Given the description of an element on the screen output the (x, y) to click on. 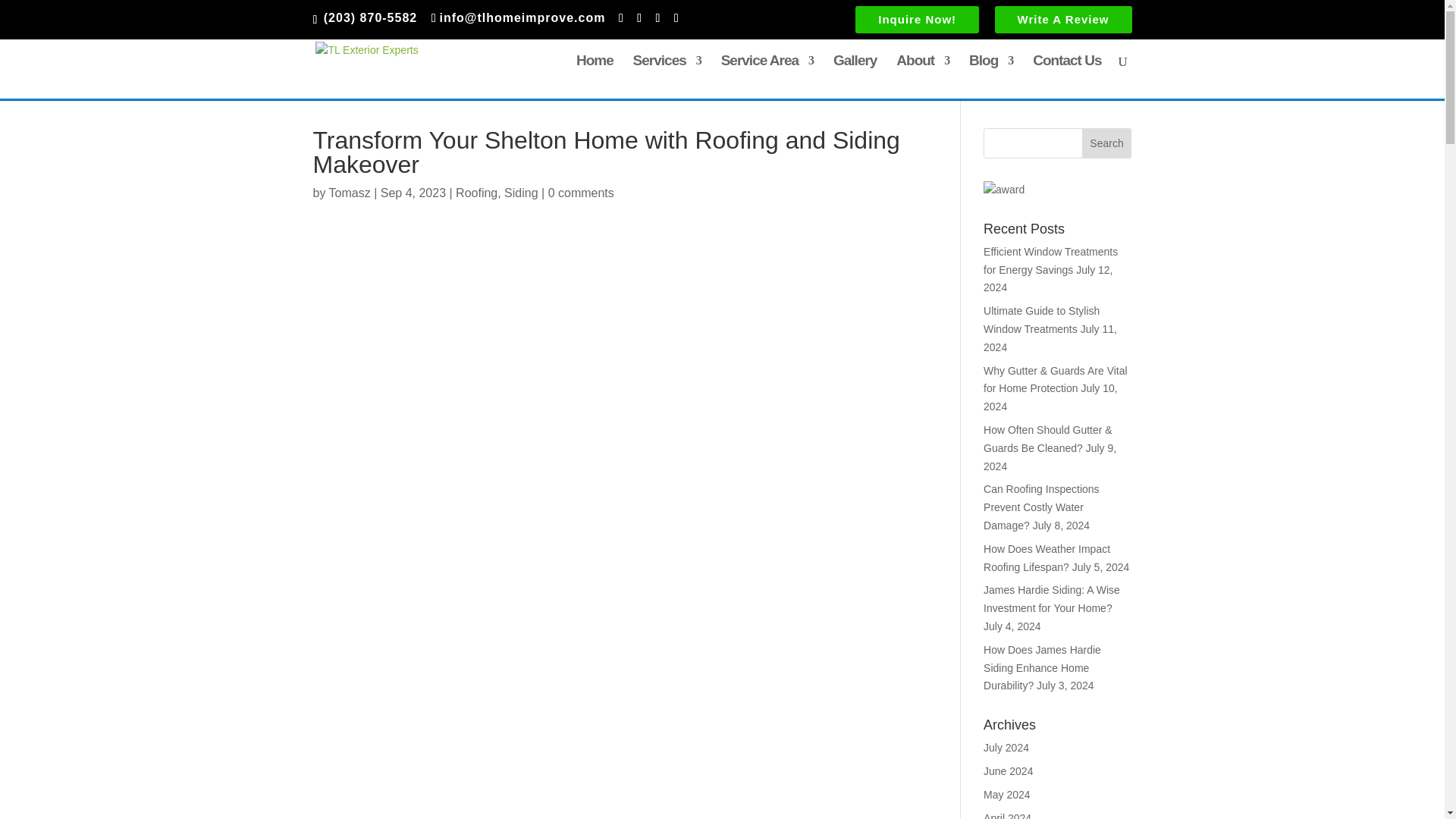
Service Area (766, 76)
Tomasz (350, 192)
Posts by Tomasz (350, 192)
Gallery (854, 76)
Services (667, 76)
Blog (991, 76)
0 comments (581, 192)
Contact Us (1066, 76)
Search (1106, 142)
Roofing, Siding (496, 192)
Write A Review (1063, 22)
Inquire Now! (917, 22)
About (922, 76)
